Given the description of an element on the screen output the (x, y) to click on. 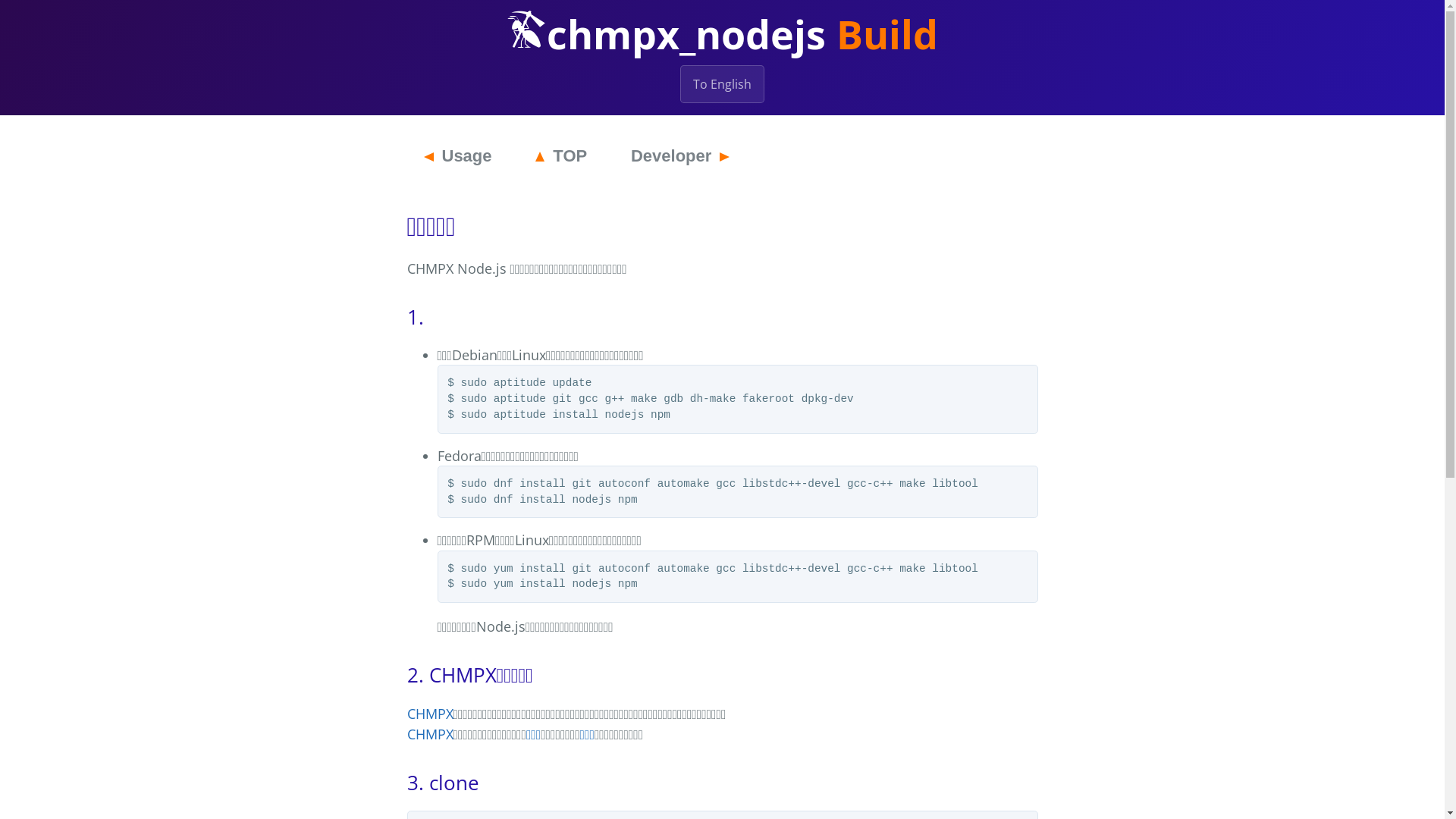
CHMPX Element type: text (429, 733)
Usage Element type: text (457, 155)
To English Element type: text (722, 84)
CHMPX Element type: text (429, 713)
Developer Element type: text (680, 155)
TOP Element type: text (560, 155)
